Given the description of an element on the screen output the (x, y) to click on. 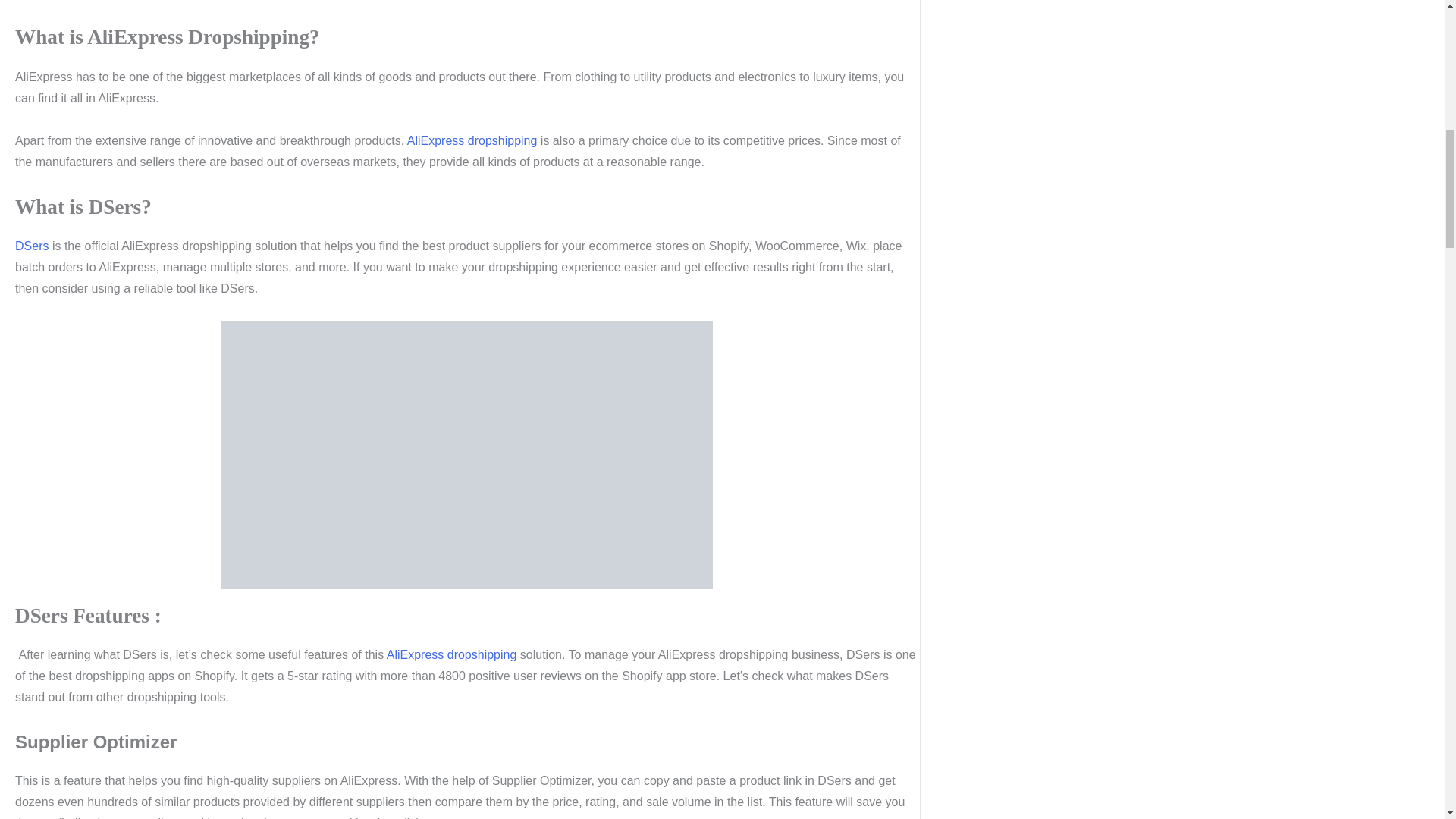
AliExpress dropshipping (450, 654)
DSers (31, 245)
AliExpress Dropshipping (467, 454)
AliExpress dropshipping (470, 140)
